Given the description of an element on the screen output the (x, y) to click on. 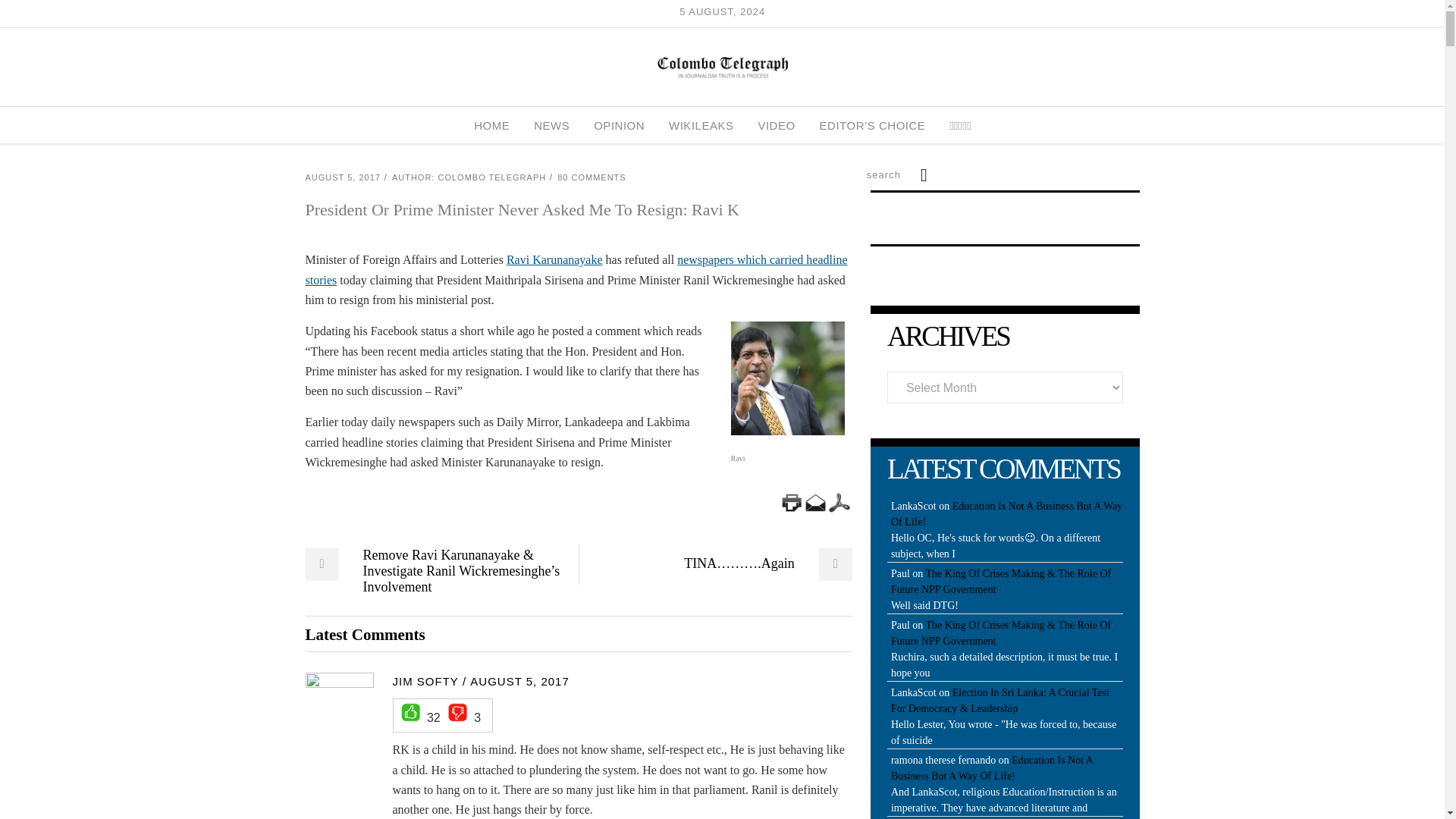
NEWS (550, 125)
Ravi Karunanayake (554, 259)
AUGUST 5, 2017 (342, 176)
HOME (491, 125)
OPINION (618, 125)
AUTHOR: COLOMBO TELEGRAPH (468, 176)
80 COMMENTS (591, 176)
VIDEO (775, 125)
newspapers which carried headline stories (575, 269)
WIKILEAKS (700, 125)
